Given the description of an element on the screen output the (x, y) to click on. 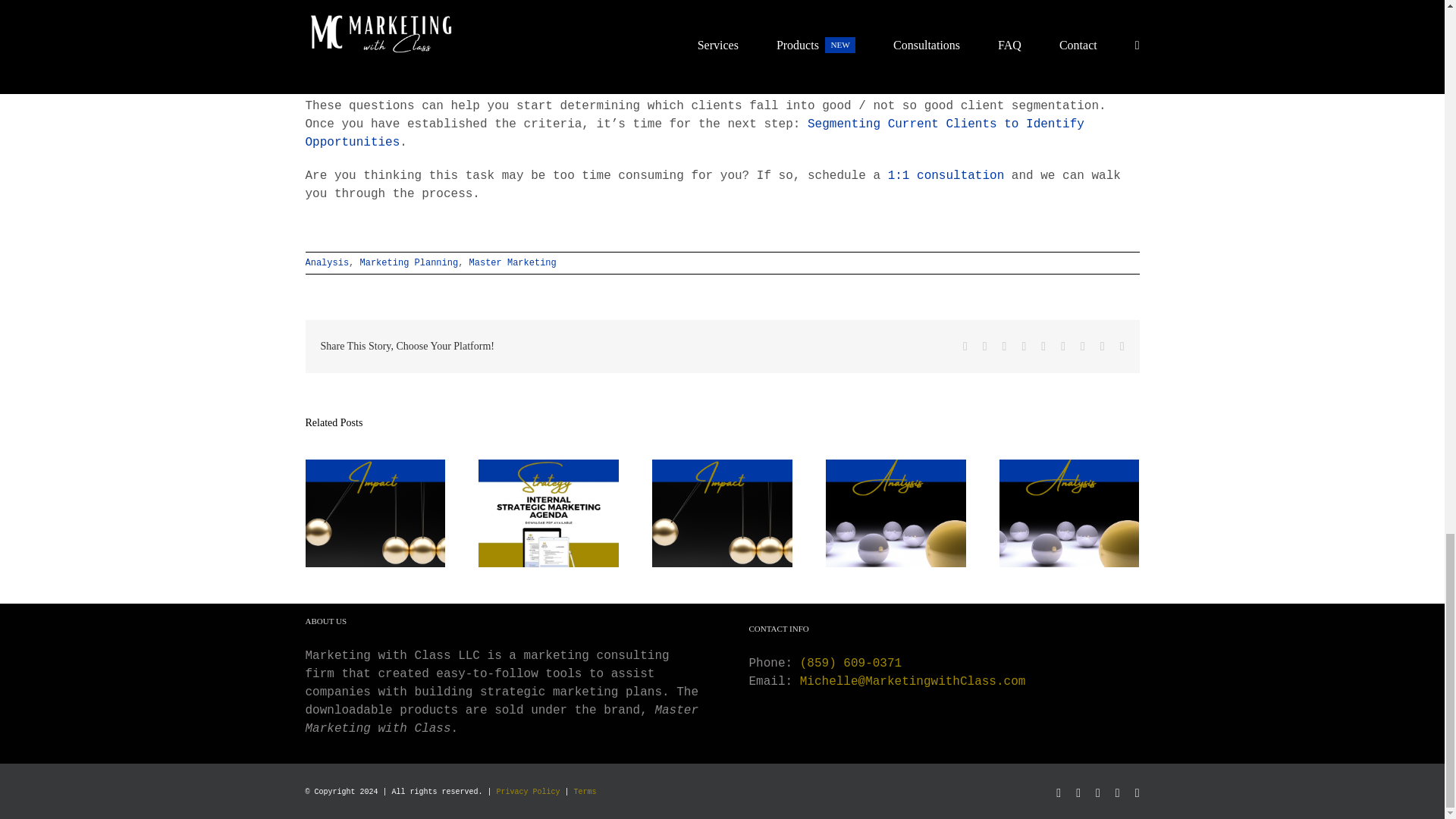
1:1 consultation (946, 175)
Marketing Planning (408, 262)
Master Marketing (512, 262)
Segmenting Current Clients to Identify Opportunities (693, 133)
Analysis (326, 262)
